Given the description of an element on the screen output the (x, y) to click on. 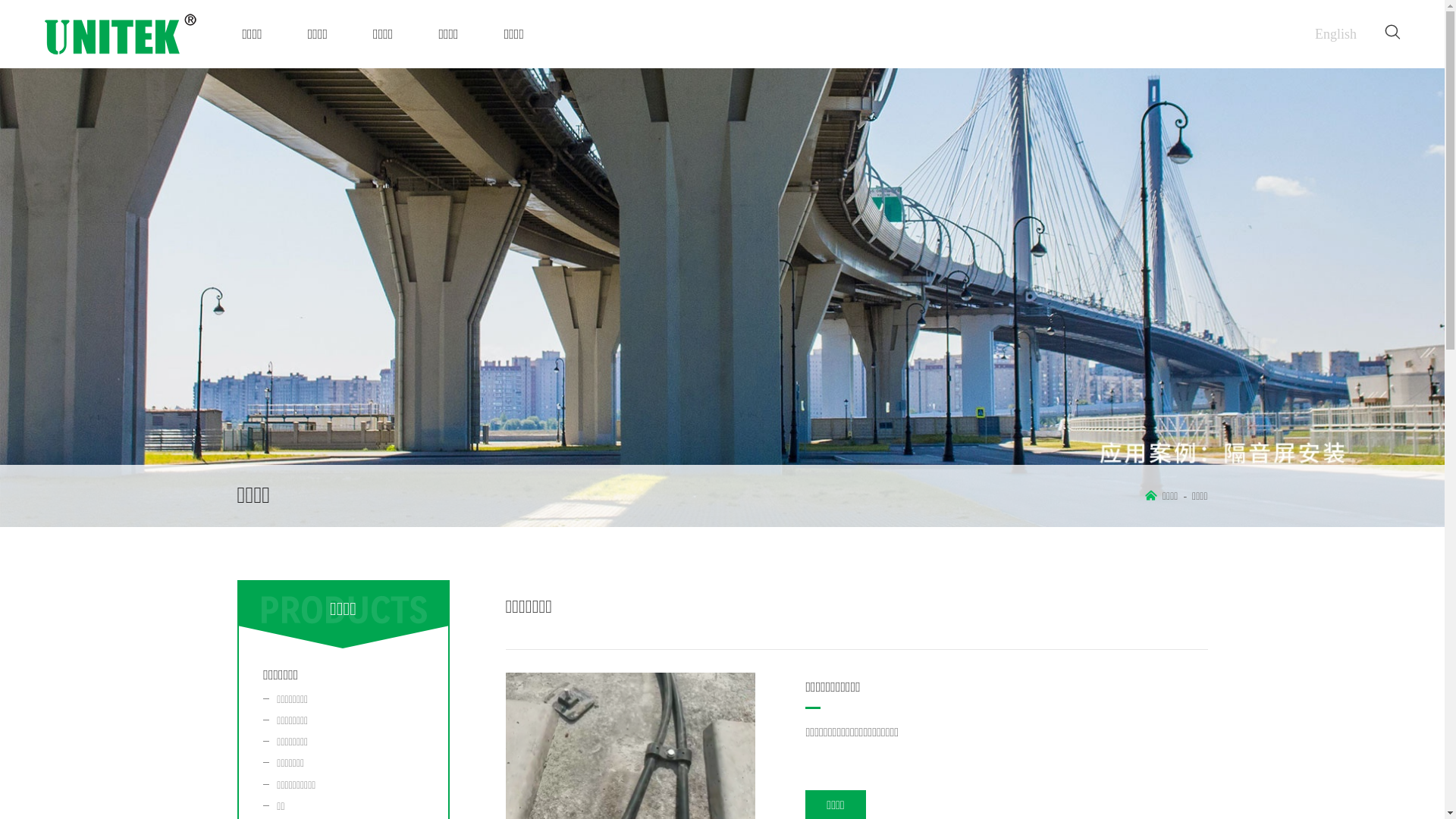
English Element type: text (1335, 33)
